Given the description of an element on the screen output the (x, y) to click on. 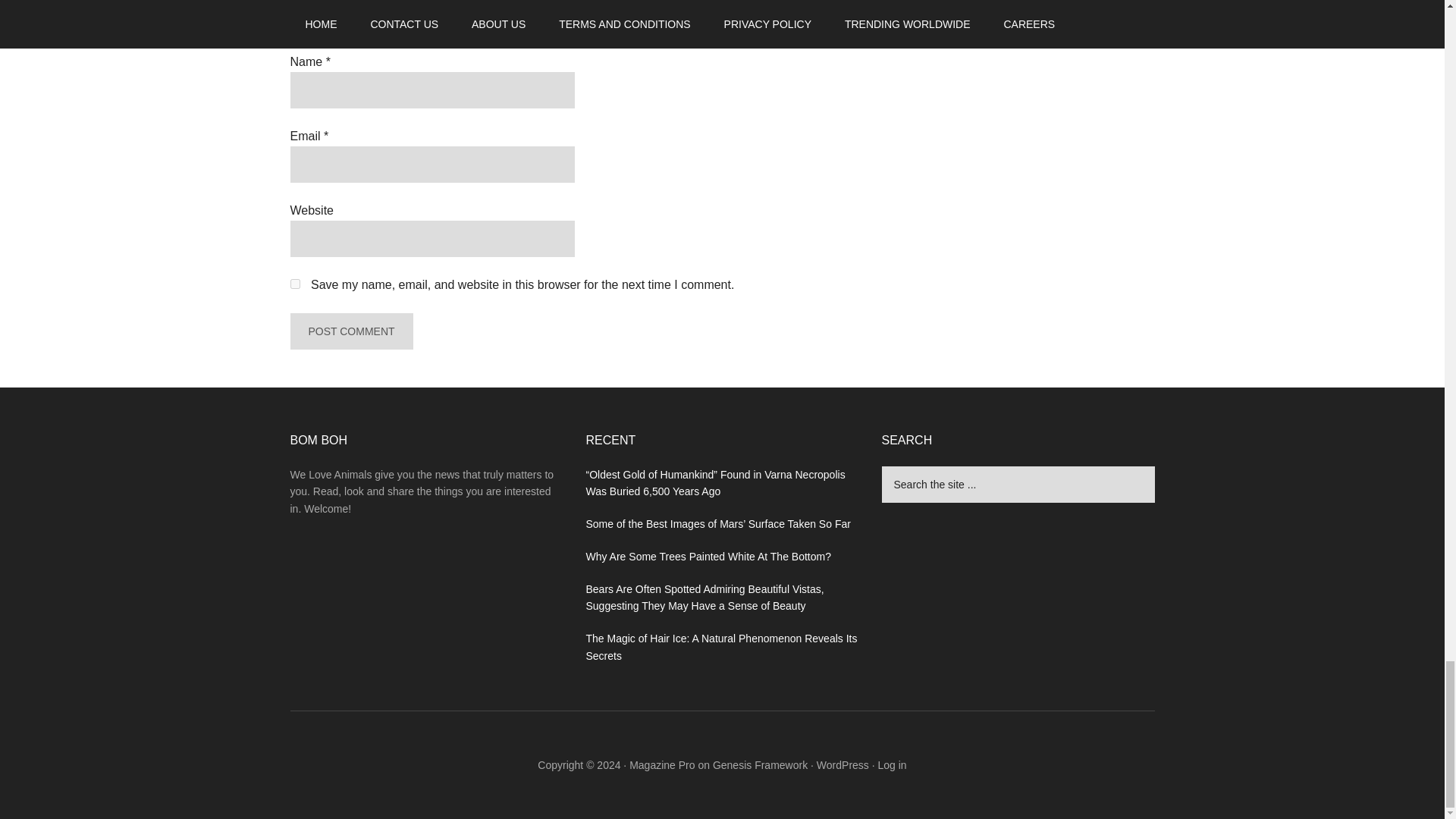
Post Comment (350, 330)
Post Comment (350, 330)
yes (294, 284)
